Given the description of an element on the screen output the (x, y) to click on. 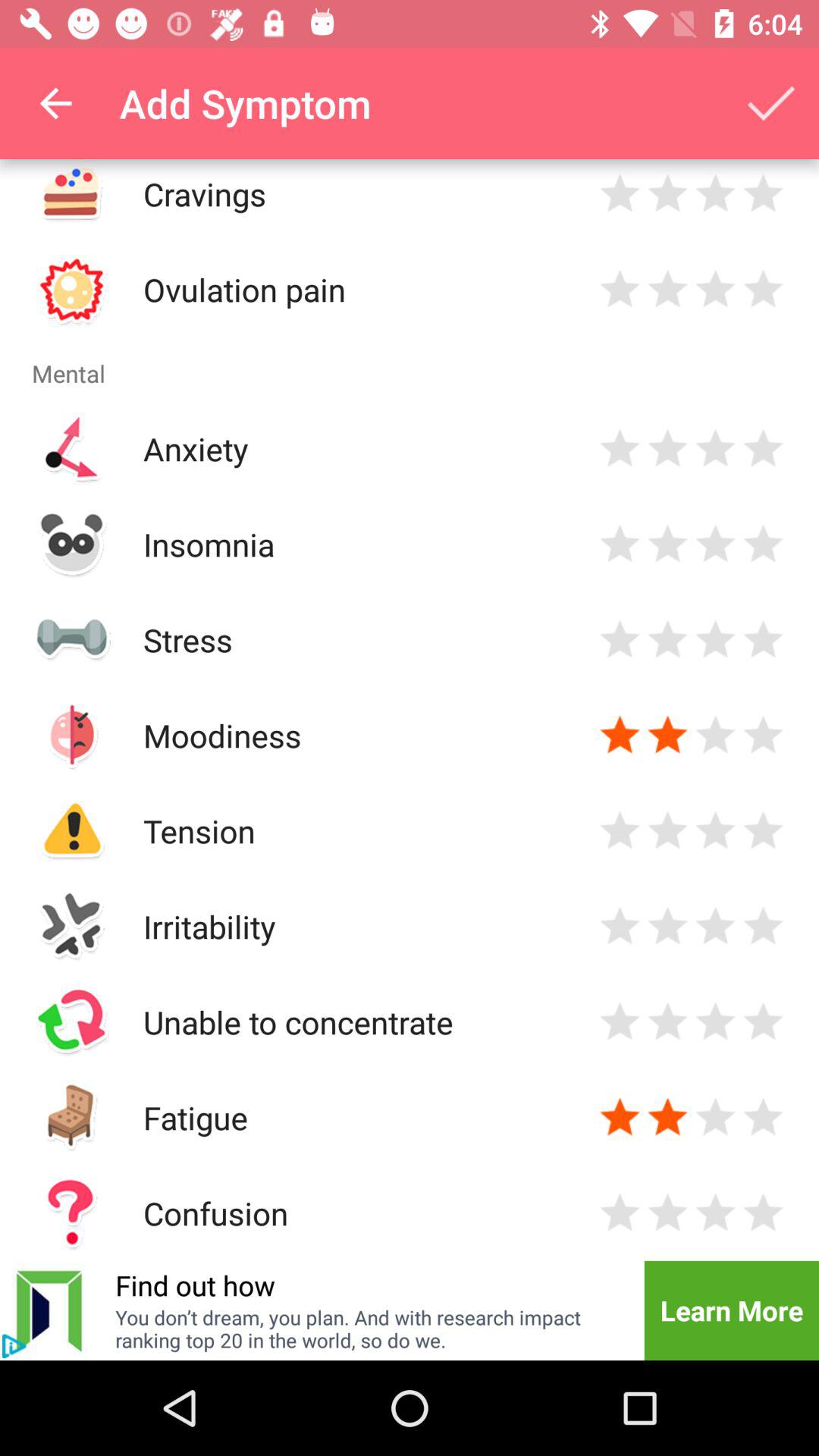
add single star for anxiety (619, 448)
